Given the description of an element on the screen output the (x, y) to click on. 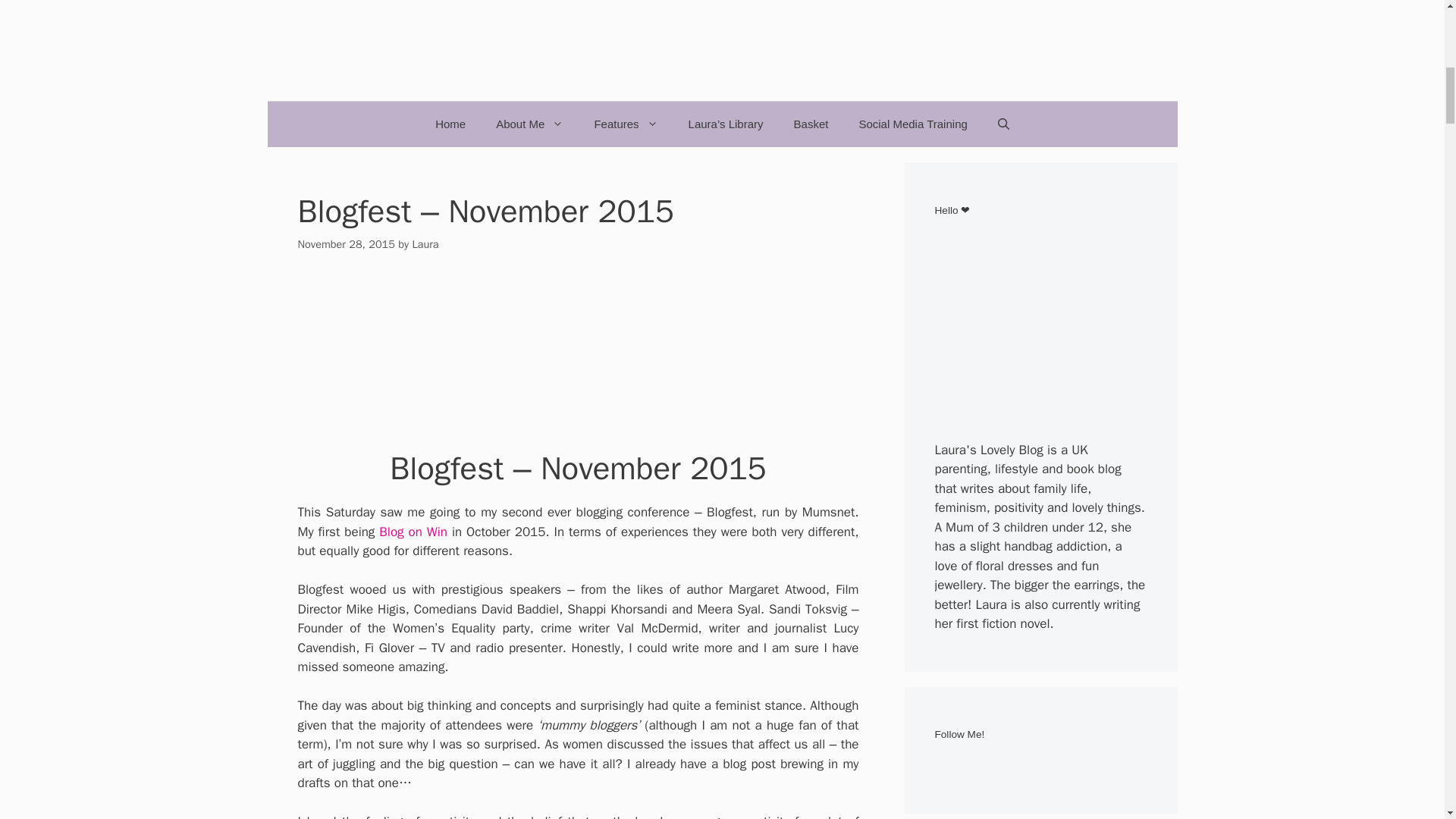
Home (450, 124)
Features (625, 124)
About Me (529, 124)
Social Media Training (912, 124)
Laura (425, 243)
Blog on Win (412, 531)
Basket (811, 124)
View all posts by Laura (425, 243)
